Given the description of an element on the screen output the (x, y) to click on. 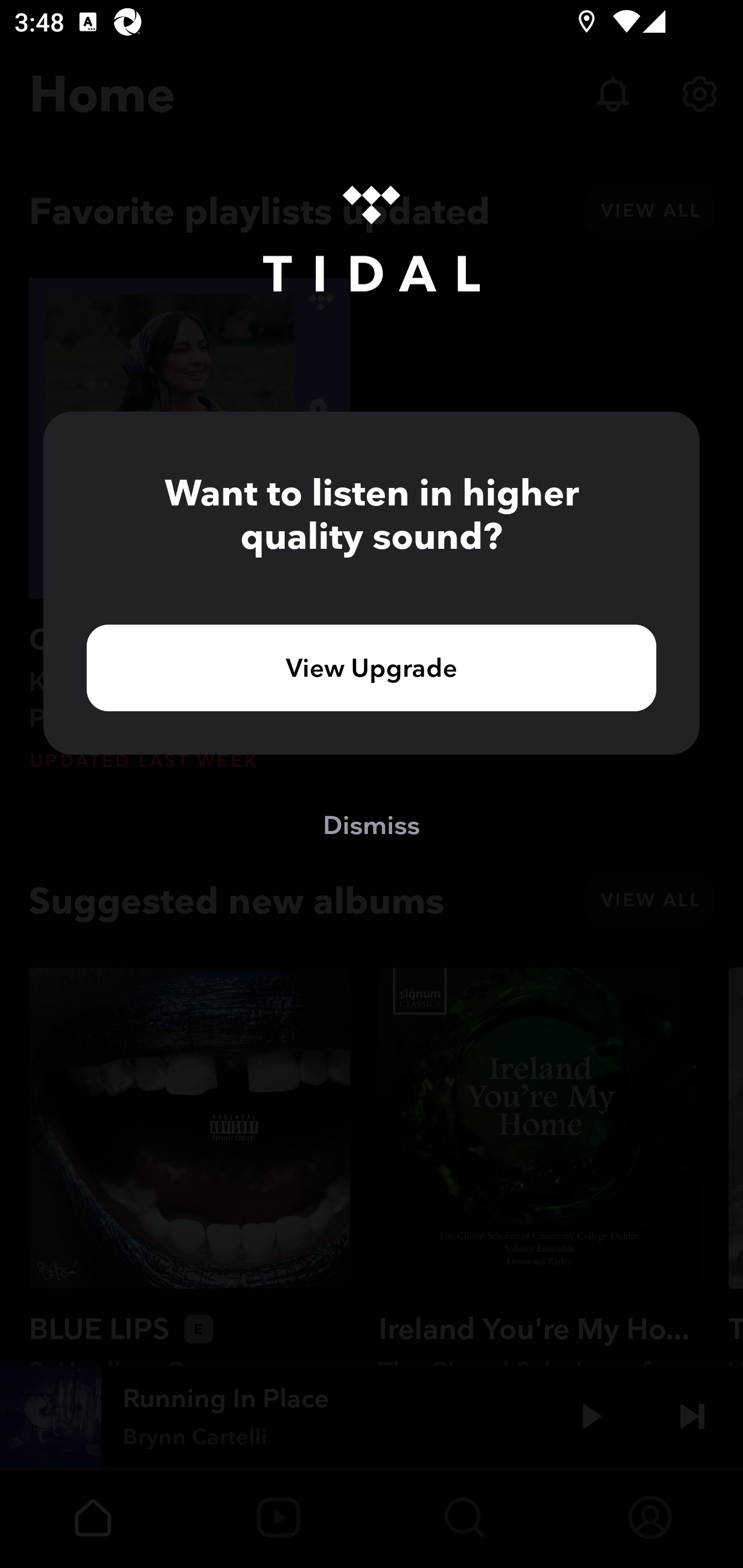
View Upgrade (371, 667)
Dismiss (371, 824)
